Given the description of an element on the screen output the (x, y) to click on. 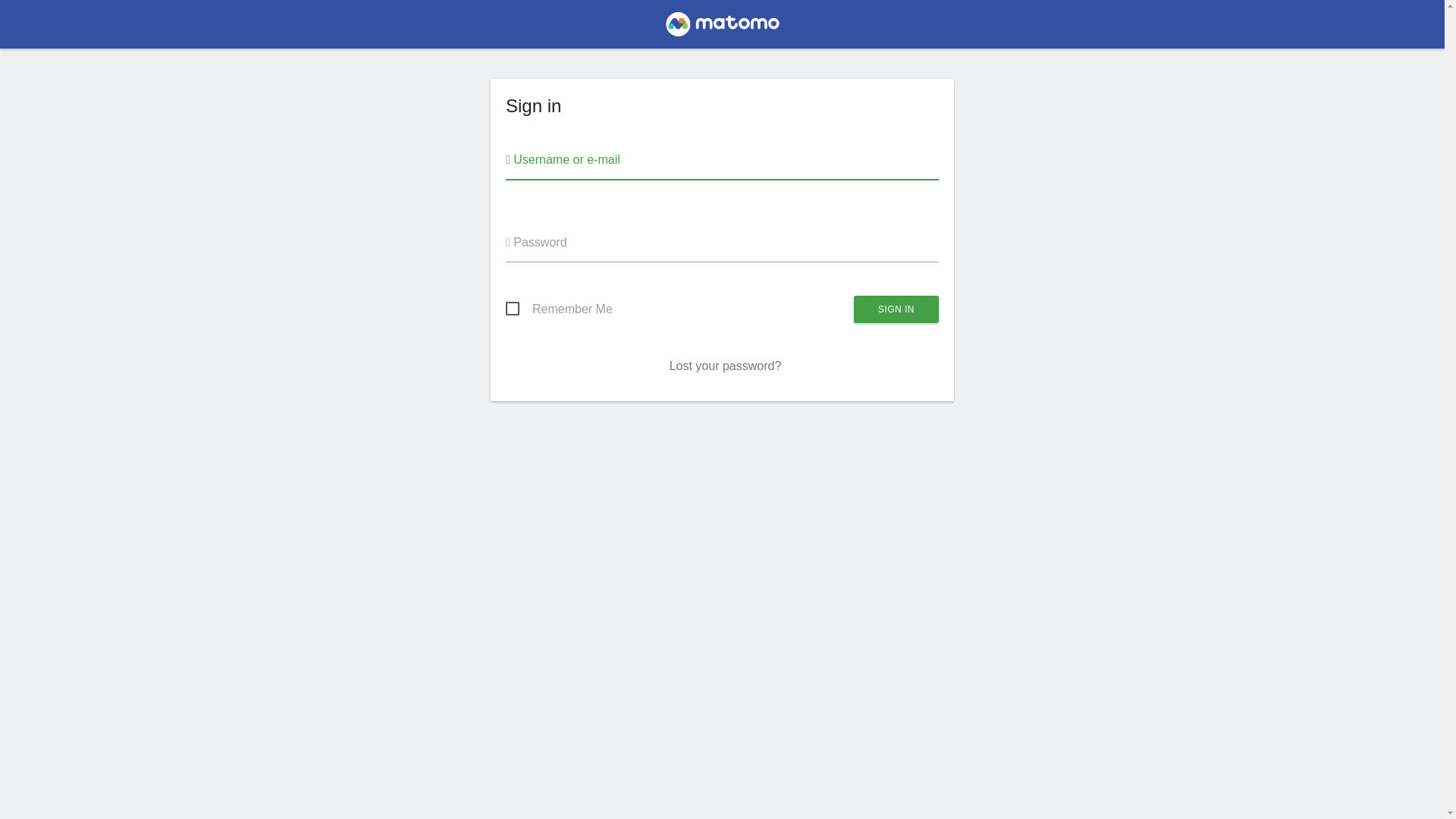
Matomo # free/libre analytics platform Element type: hover (722, 27)
Lost your password? Element type: text (725, 365)
Sign in Element type: text (895, 309)
